Given the description of an element on the screen output the (x, y) to click on. 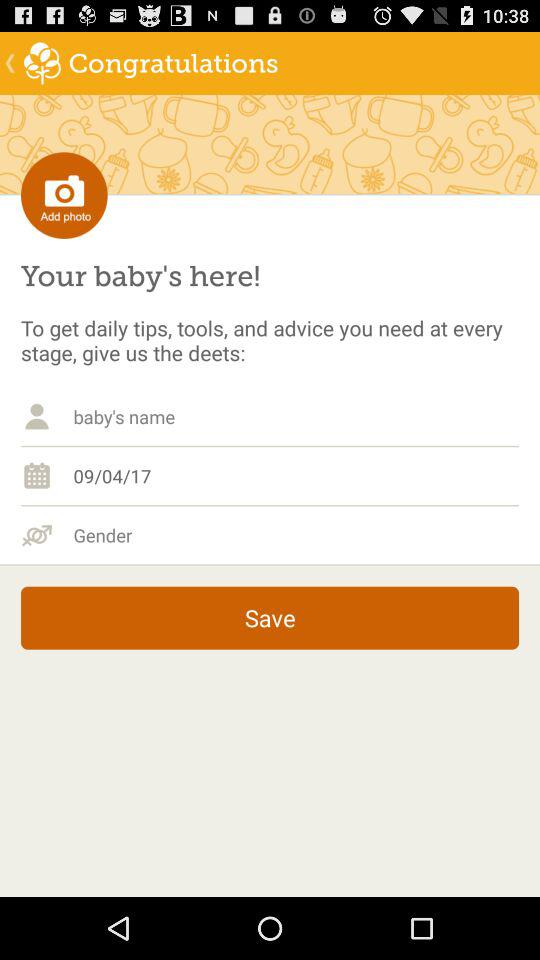
write the baby 's name (296, 416)
